Given the description of an element on the screen output the (x, y) to click on. 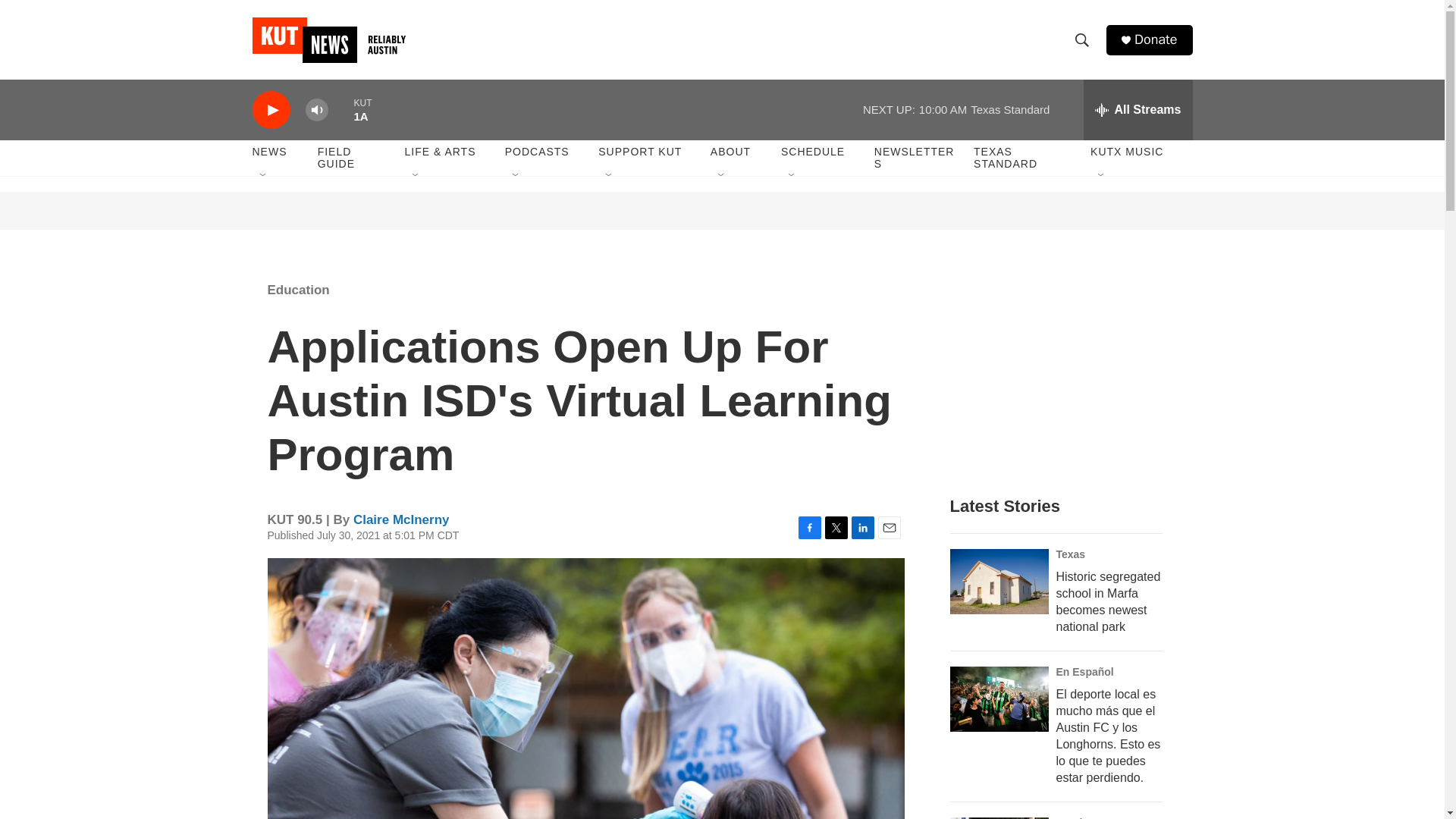
3rd party ad content (722, 210)
3rd party ad content (1062, 370)
